Given the description of an element on the screen output the (x, y) to click on. 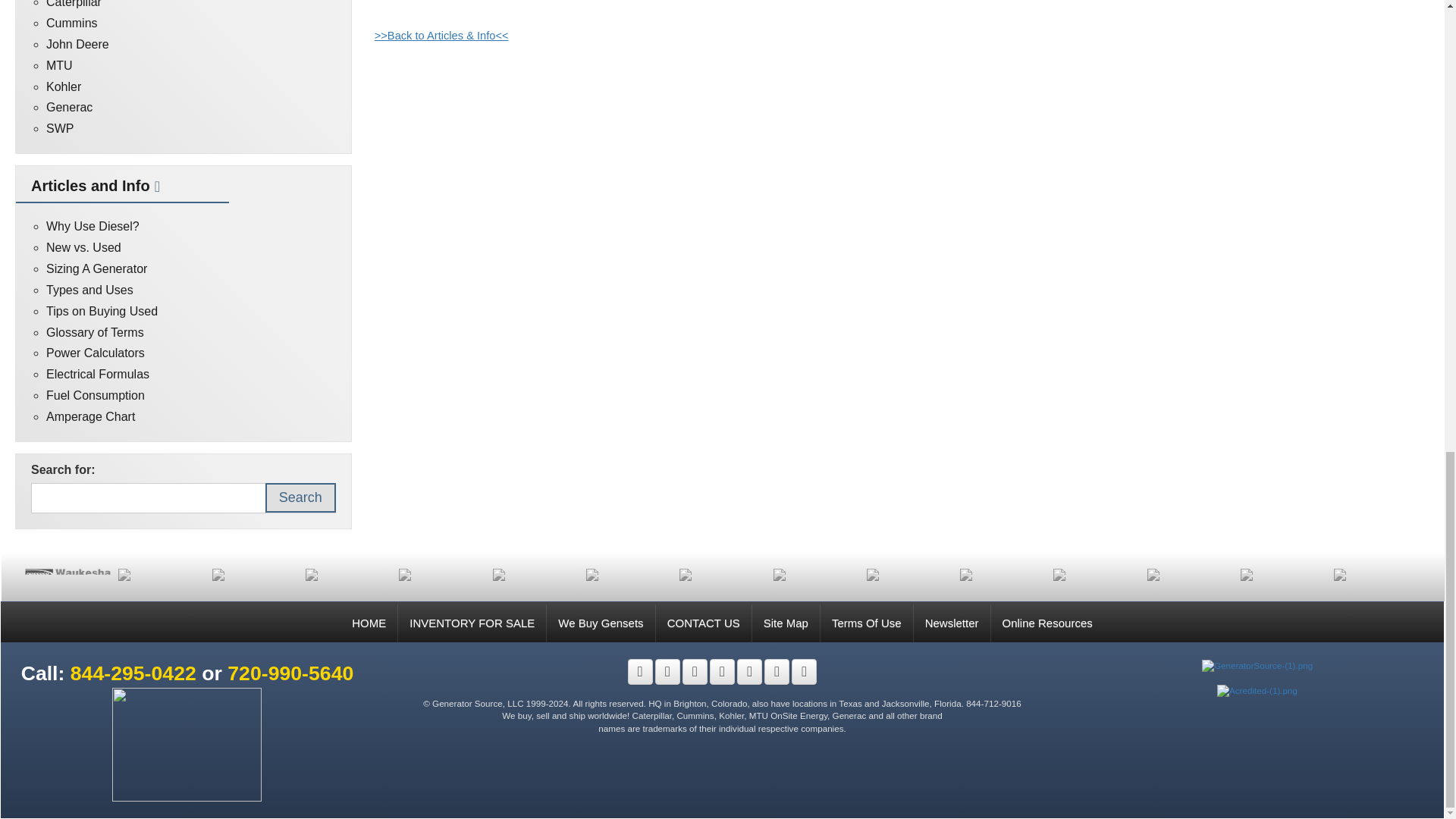
kohler (348, 574)
olympian (160, 574)
cummins (909, 574)
caterpillar (1002, 574)
asco (1190, 574)
detroit (816, 574)
mtu (1283, 574)
mq (255, 574)
baldor (1095, 574)
generac (722, 574)
